Given the description of an element on the screen output the (x, y) to click on. 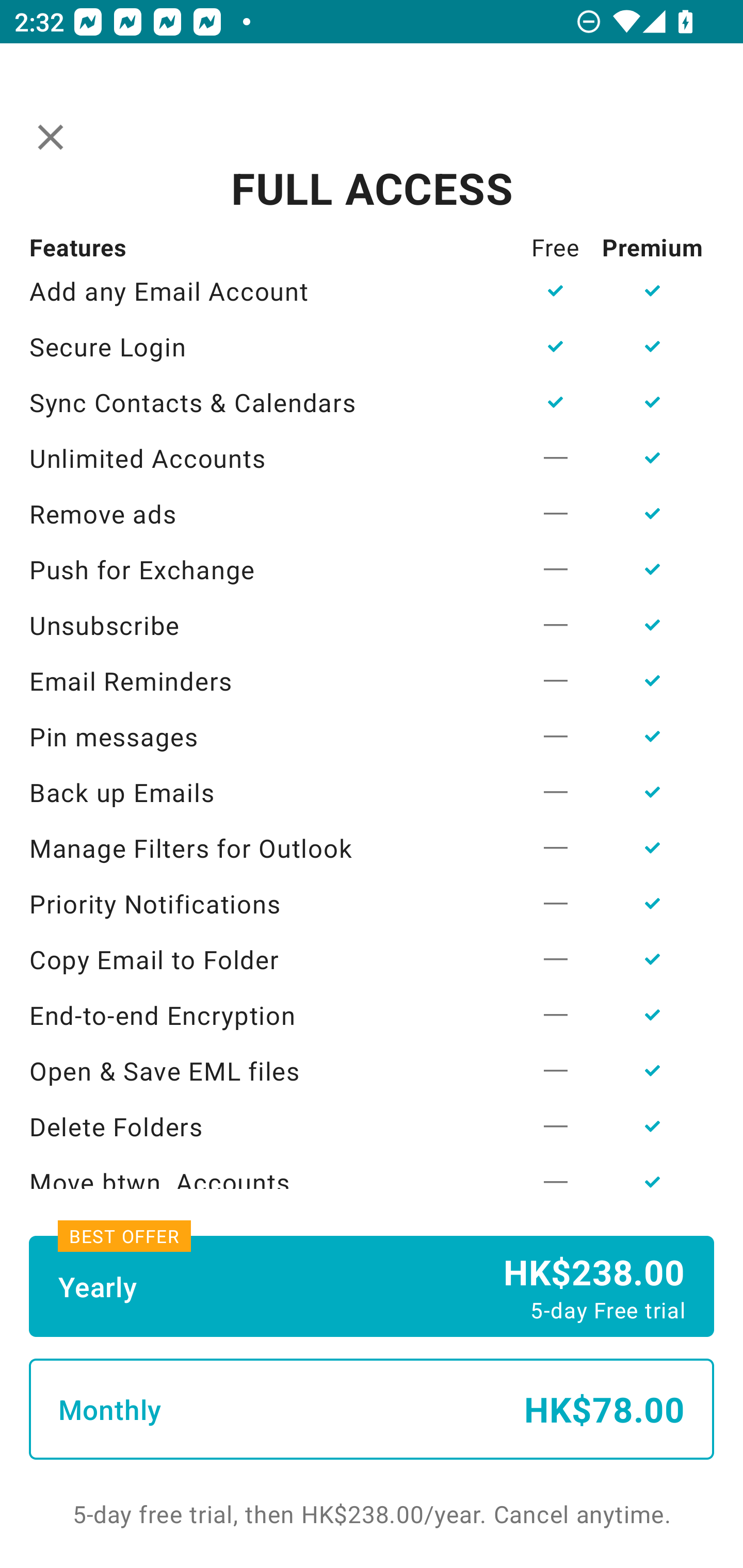
Yearly HK$238.00 5-day Free trial (371, 1286)
Monthly HK$78.00 (371, 1408)
